Given the description of an element on the screen output the (x, y) to click on. 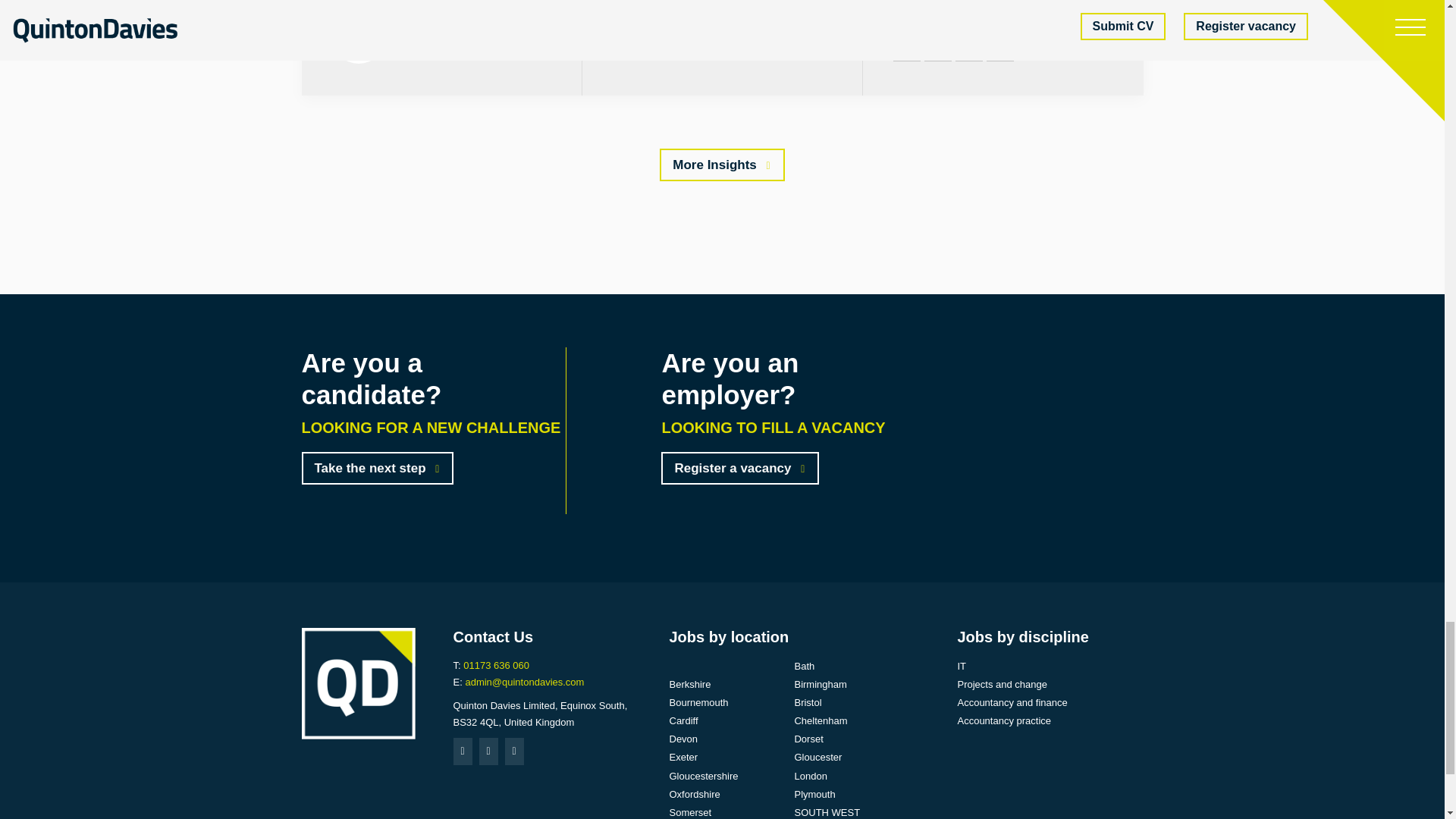
01173 636 060 (496, 665)
More Insights (721, 164)
Take the next step (377, 468)
Register a vacancy (739, 468)
Alec Quinton (438, 45)
